Given the description of an element on the screen output the (x, y) to click on. 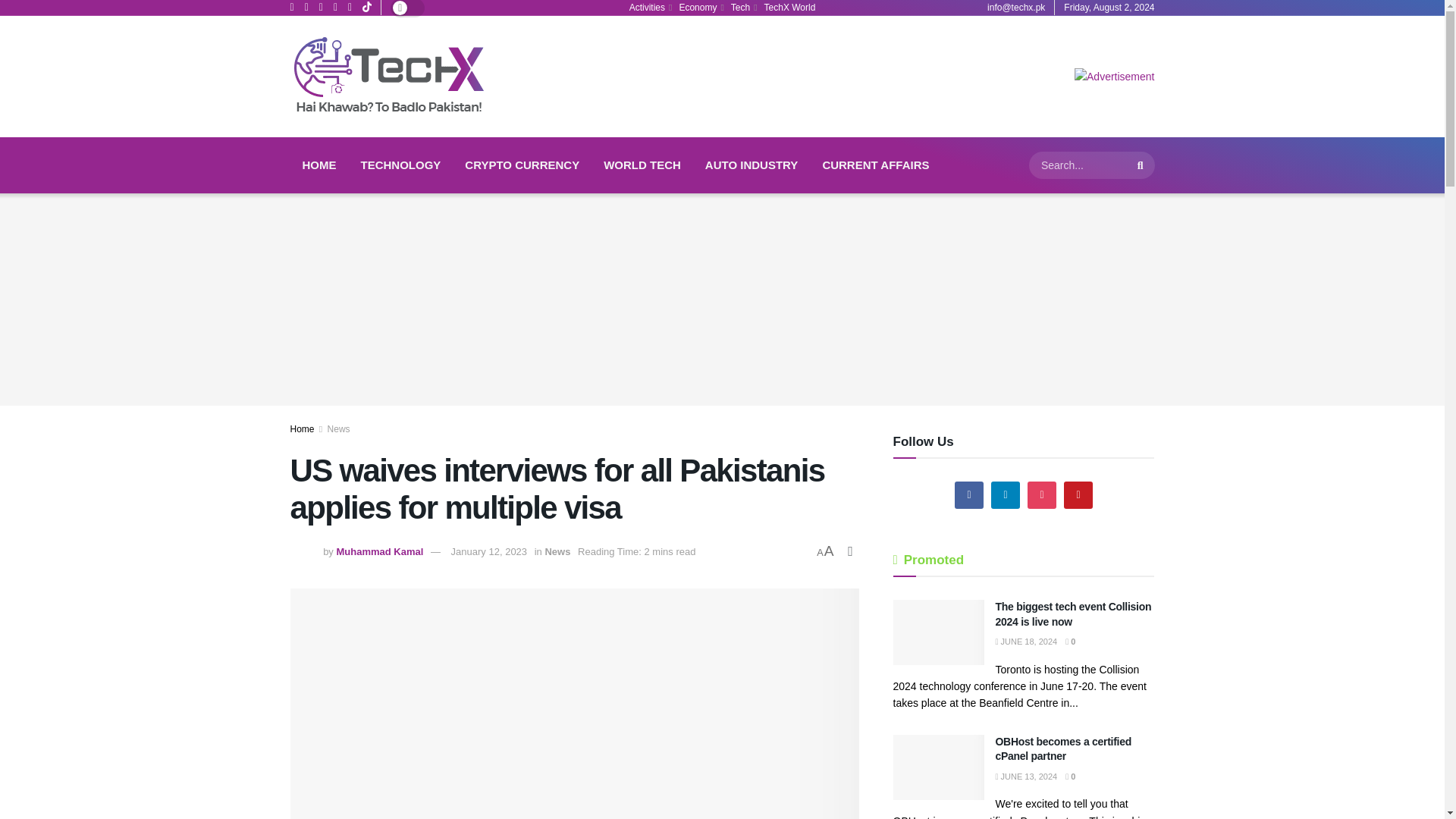
CRYPTO CURRENCY (521, 165)
TechX World (789, 7)
Activities (648, 7)
Economy (699, 7)
HOME (318, 165)
CURRENT AFFAIRS (874, 165)
AUTO INDUSTRY (751, 165)
WORLD TECH (642, 165)
Tech (742, 7)
TECHNOLOGY (400, 165)
